Given the description of an element on the screen output the (x, y) to click on. 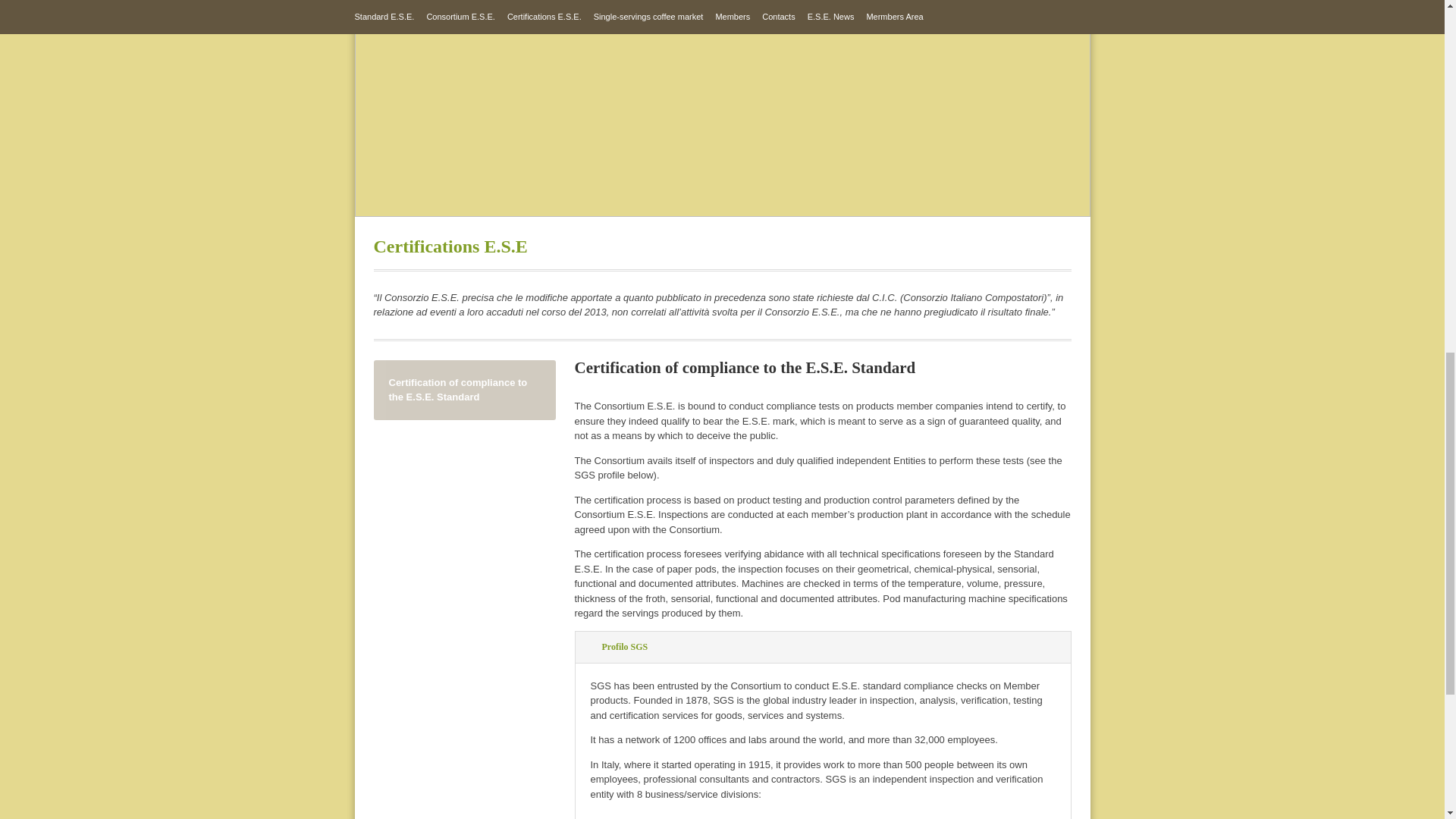
Certification of compliance to the E.S.E. Standard (463, 390)
Profilo SGS (823, 646)
Certification of compliance to the E.S.E. Standard (463, 390)
